Given the description of an element on the screen output the (x, y) to click on. 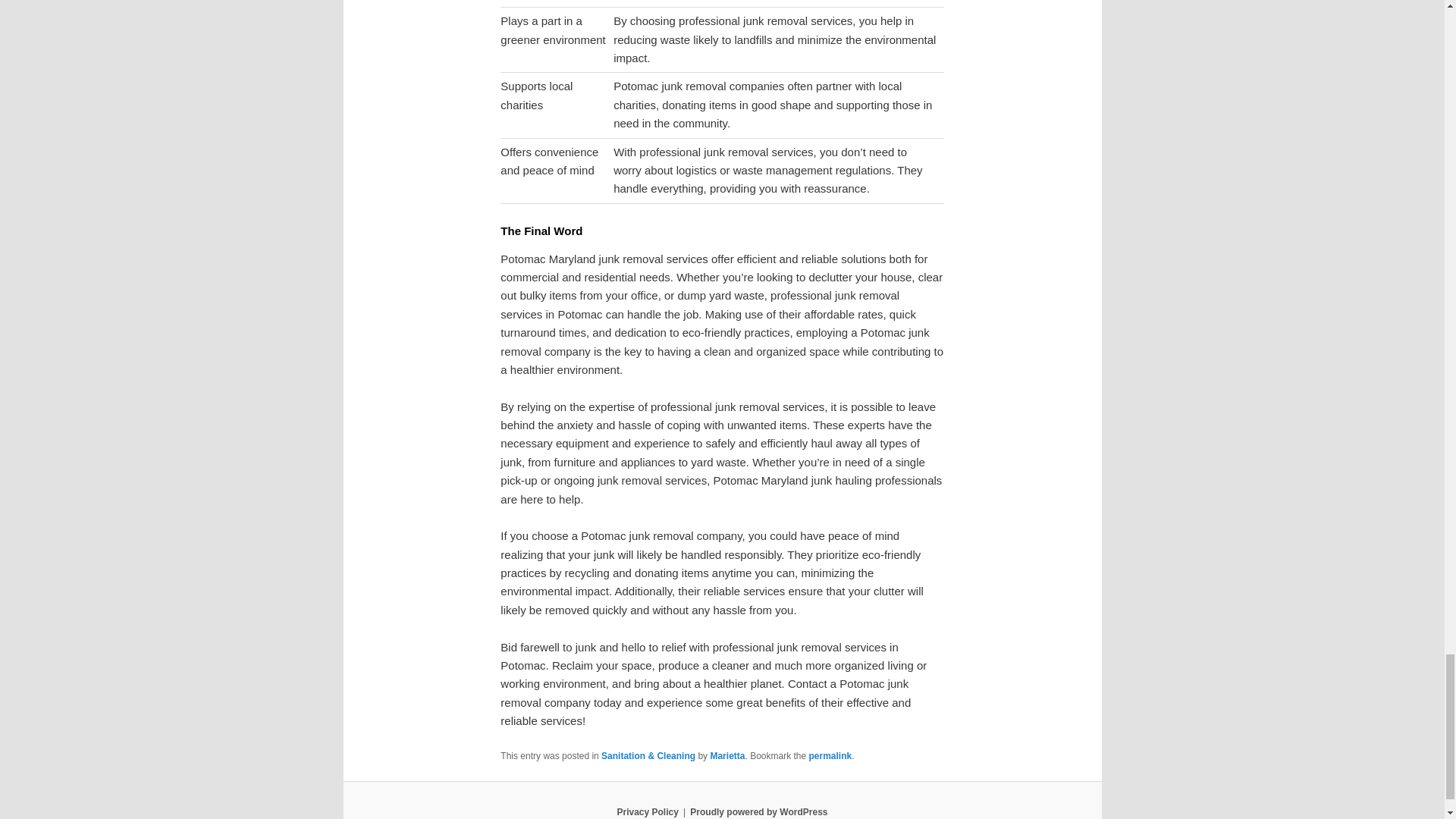
Semantic Personal Publishing Platform (758, 811)
permalink (830, 756)
Permalink to Convenient Junk Removal Options in Potomac MD (830, 756)
Marietta (727, 756)
Privacy Policy (646, 811)
Proudly powered by WordPress (758, 811)
